Given the description of an element on the screen output the (x, y) to click on. 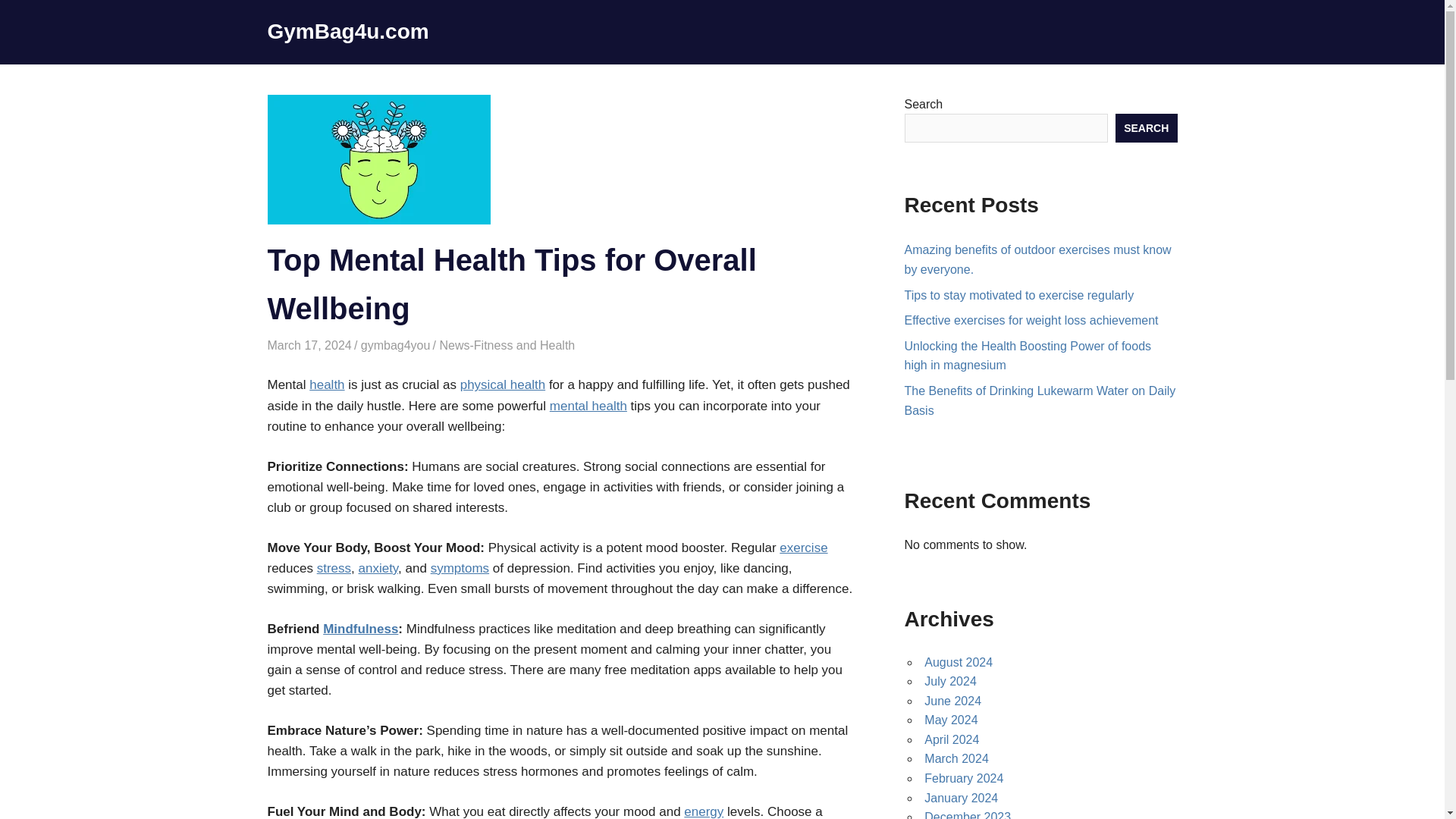
health (325, 384)
May 2024 (950, 719)
1:59 am (308, 345)
News-Fitness and Health (507, 345)
mental health (588, 405)
energy (703, 811)
GymBag4u.com (347, 31)
Tips to stay motivated to exercise regularly (1019, 295)
View all posts by gymbag4you (395, 345)
